Given the description of an element on the screen output the (x, y) to click on. 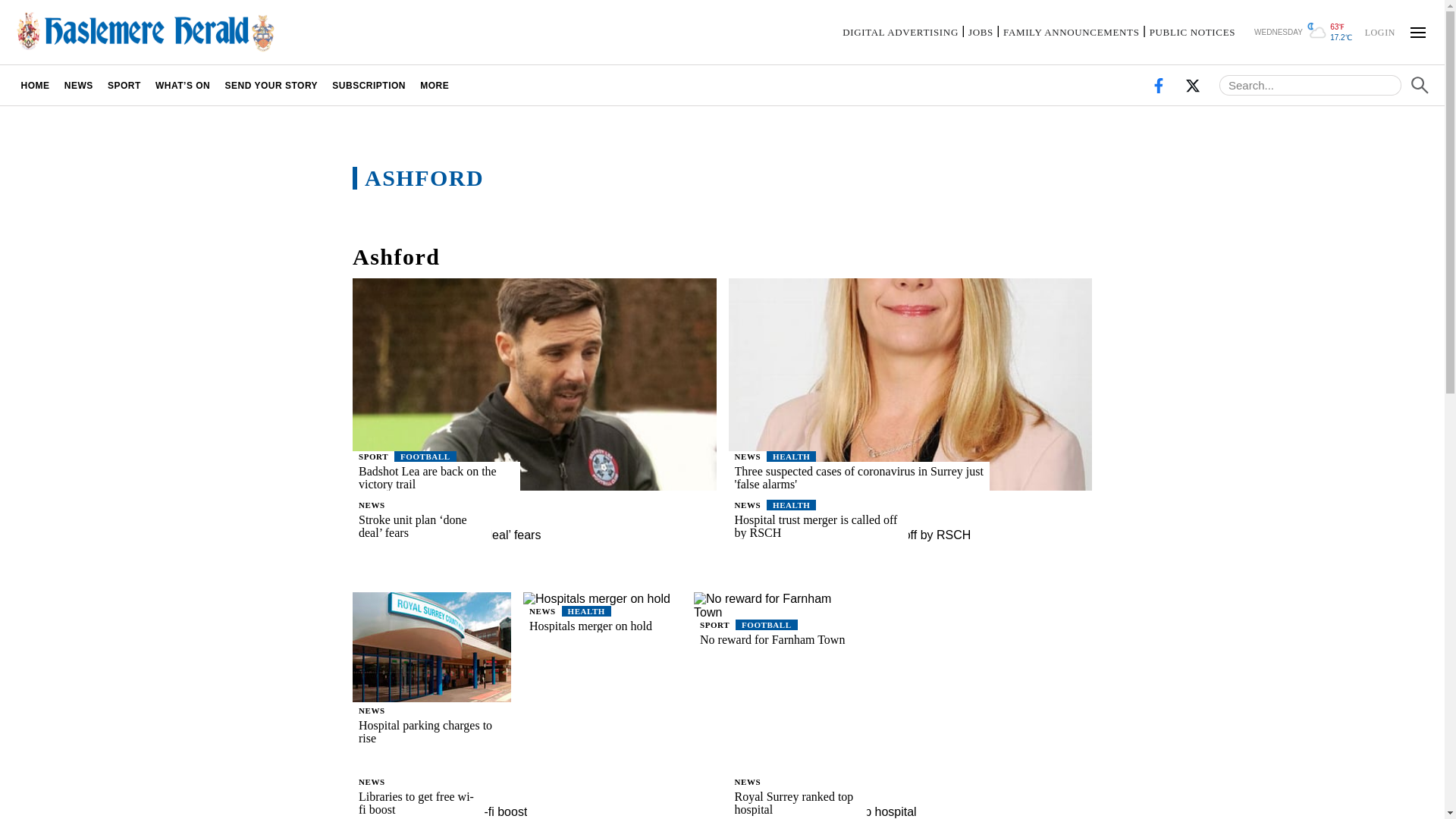
SPORT (373, 456)
Badshot Lea are back on the victory trail (457, 477)
PUBLIC NOTICES (1192, 32)
SUBSCRIPTION (368, 85)
NEWS (371, 504)
NEWS (747, 456)
HEALTH (791, 504)
NEWS (747, 504)
Hospital parking charges to rise (431, 731)
Hospitals merger on hold (601, 625)
